Given the description of an element on the screen output the (x, y) to click on. 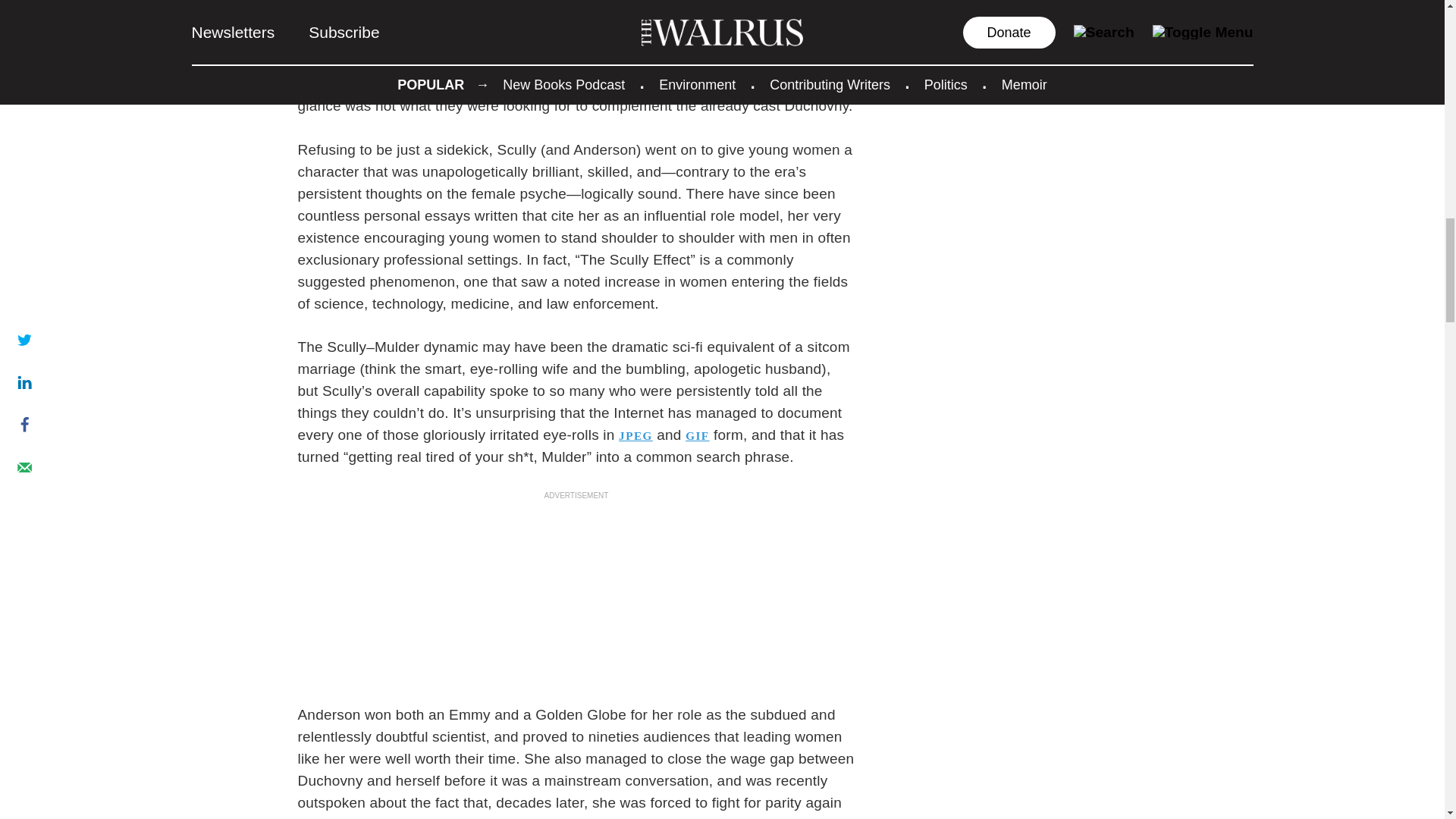
3rd party ad content (576, 596)
